Given the description of an element on the screen output the (x, y) to click on. 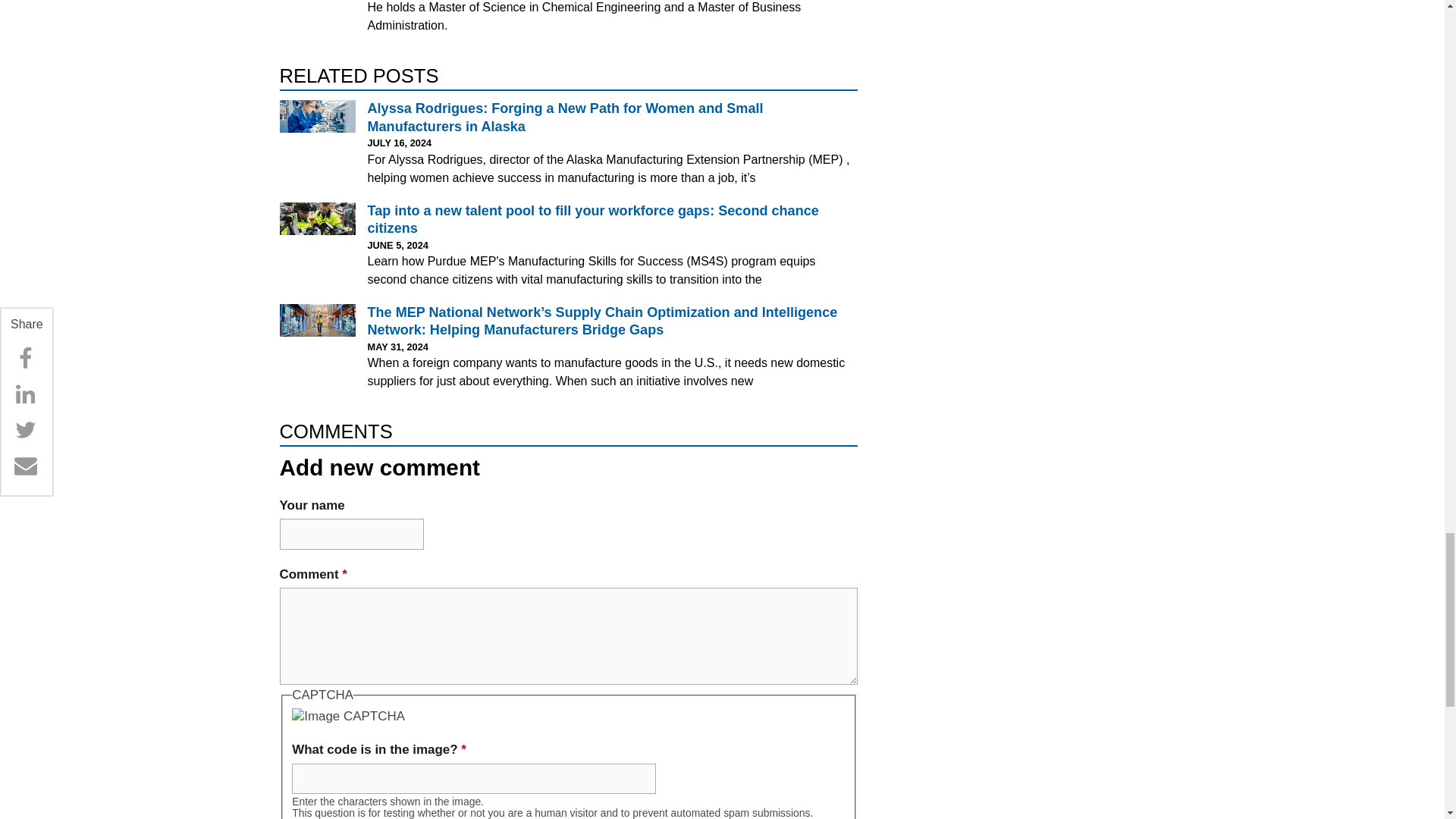
Image CAPTCHA (348, 716)
